Given the description of an element on the screen output the (x, y) to click on. 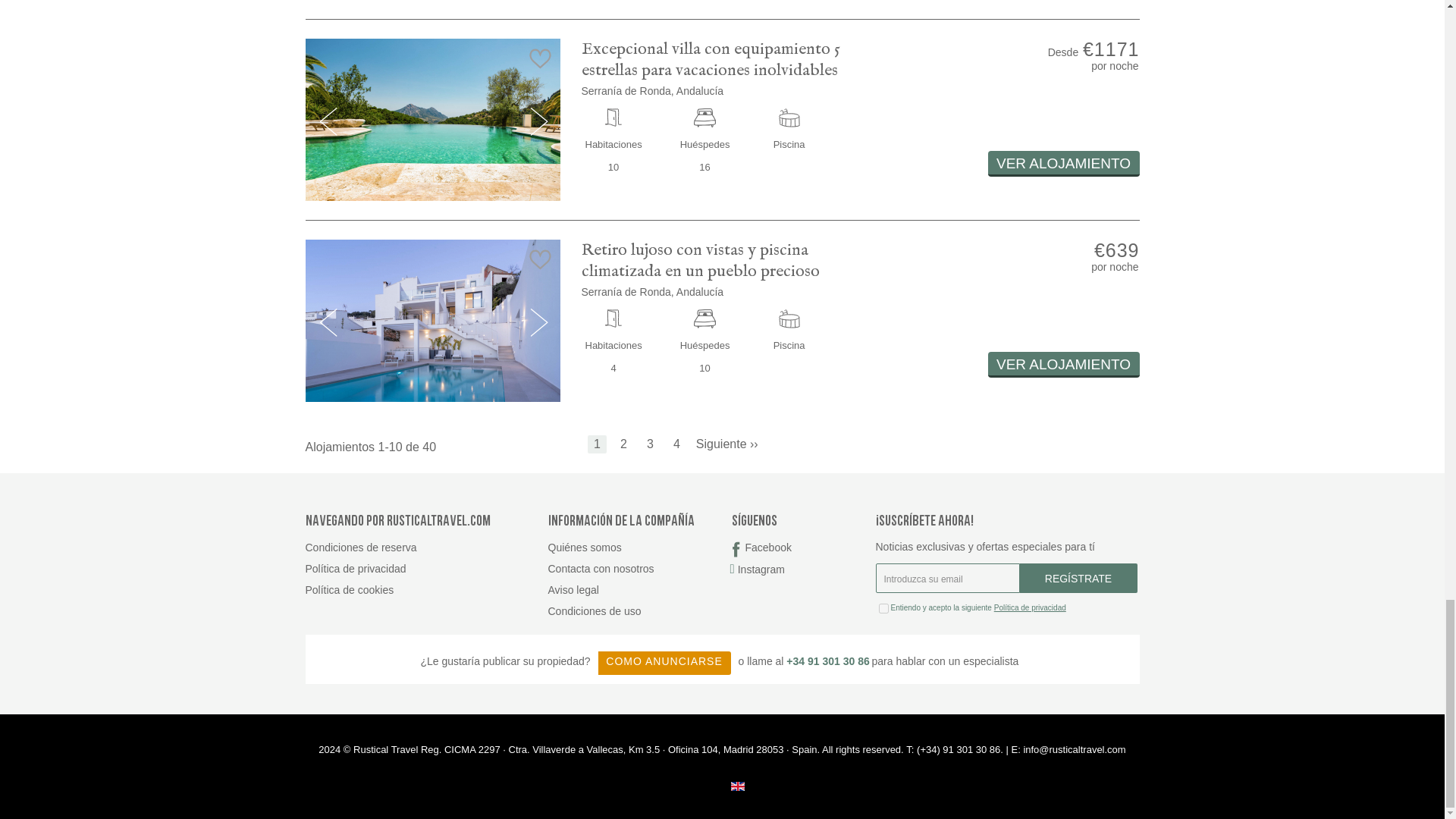
2 (623, 446)
Ir a Condiciones de uso (638, 611)
Ir a Contacta con nosotros (638, 568)
accepted (882, 608)
Ir al Facebook de Rusticaltravel (798, 547)
Ir a quienes somos (638, 547)
Leer nuestra politica de privacidad (425, 568)
Ir a Instagram (798, 568)
4 (675, 446)
Ir a Aviso legal (638, 589)
3 (649, 446)
Leer nuestra politica de cookies (425, 589)
Next (726, 446)
